Given the description of an element on the screen output the (x, y) to click on. 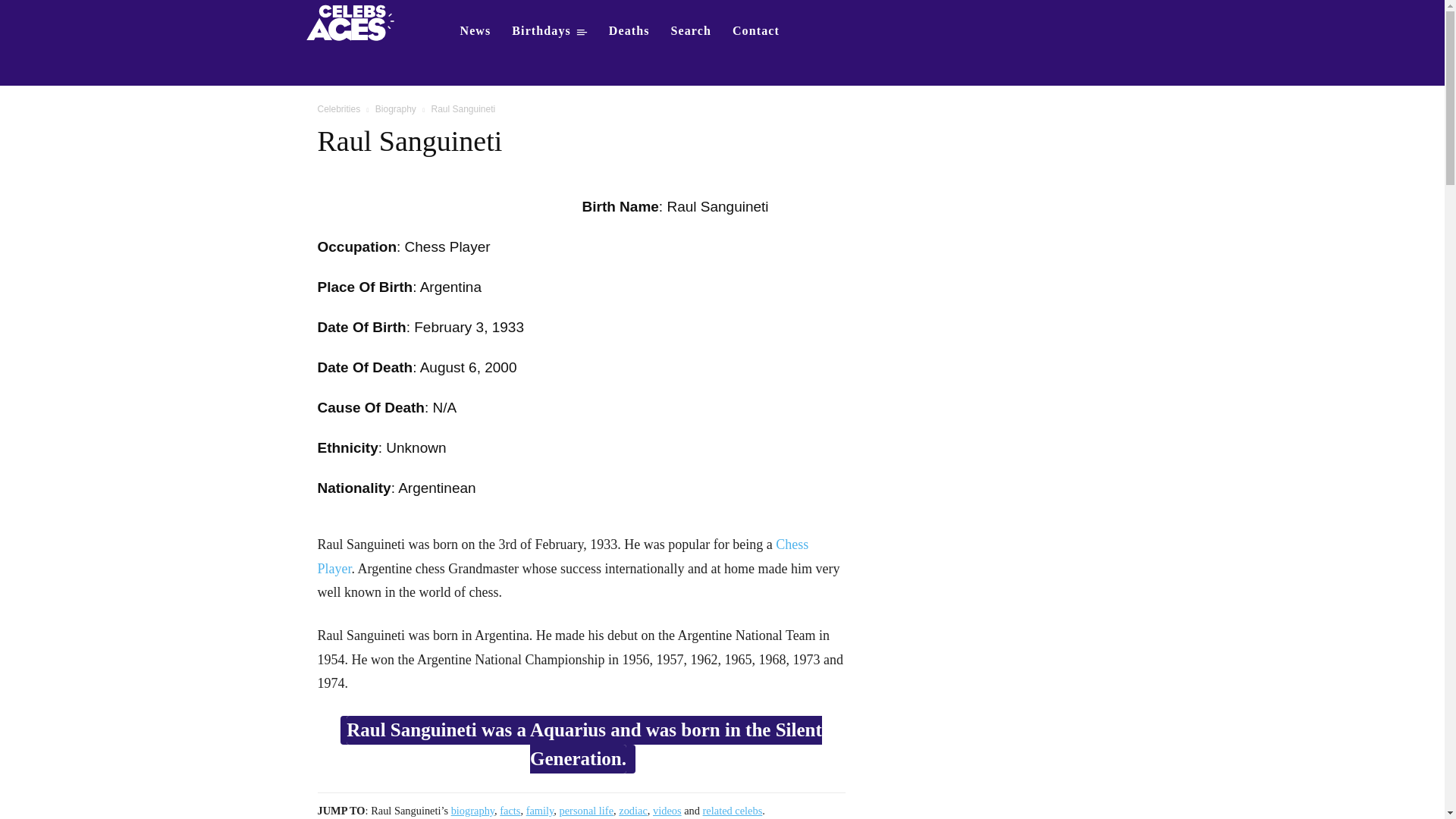
family (539, 810)
Celebrities (338, 109)
Search (691, 31)
Who is dating who (354, 21)
News (474, 31)
Birthdays (548, 31)
biography (473, 810)
personal life (586, 810)
facts (509, 810)
Contact (756, 31)
Chess Player (562, 556)
Biography (395, 109)
Celebs News (474, 31)
related celebs (732, 810)
February (442, 326)
